Given the description of an element on the screen output the (x, y) to click on. 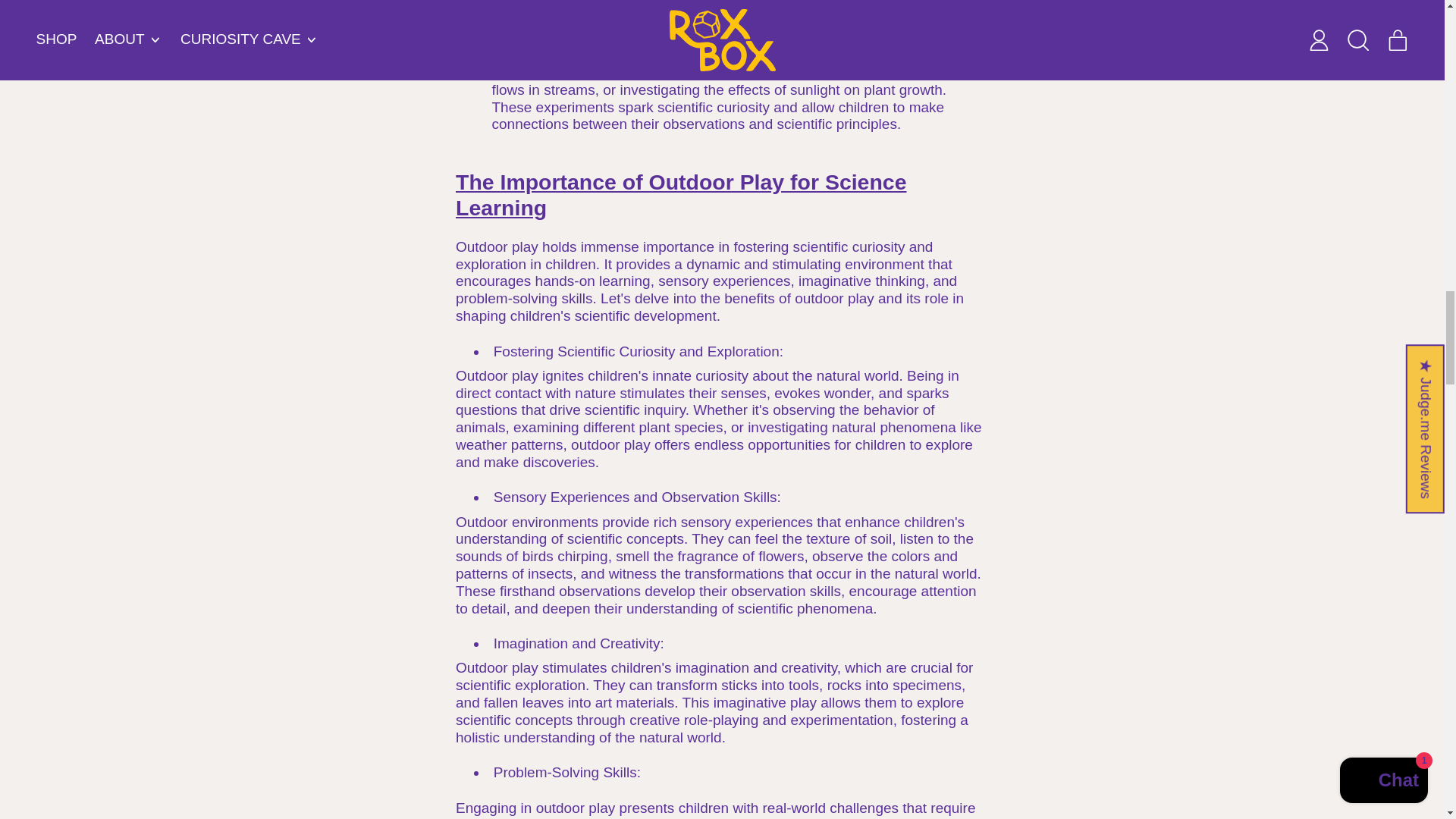
The Importance of Outdoor Play for Science Learning (680, 194)
outdoor play for fostering curiosity in kids (680, 194)
